Given the description of an element on the screen output the (x, y) to click on. 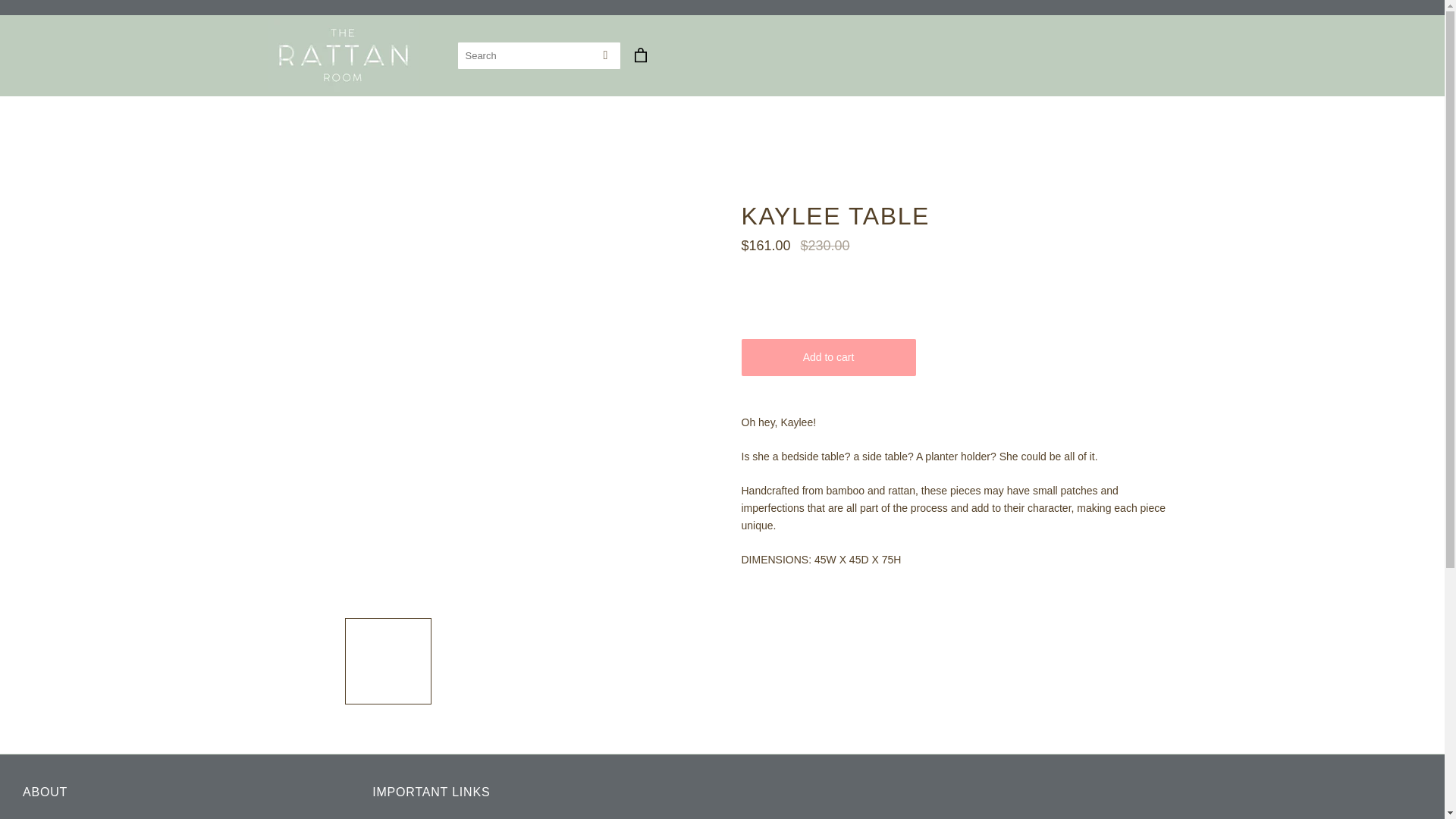
Add to cart (828, 357)
Add to cart (828, 357)
Home (622, 134)
Bedroom (729, 134)
Collections (671, 134)
